Given the description of an element on the screen output the (x, y) to click on. 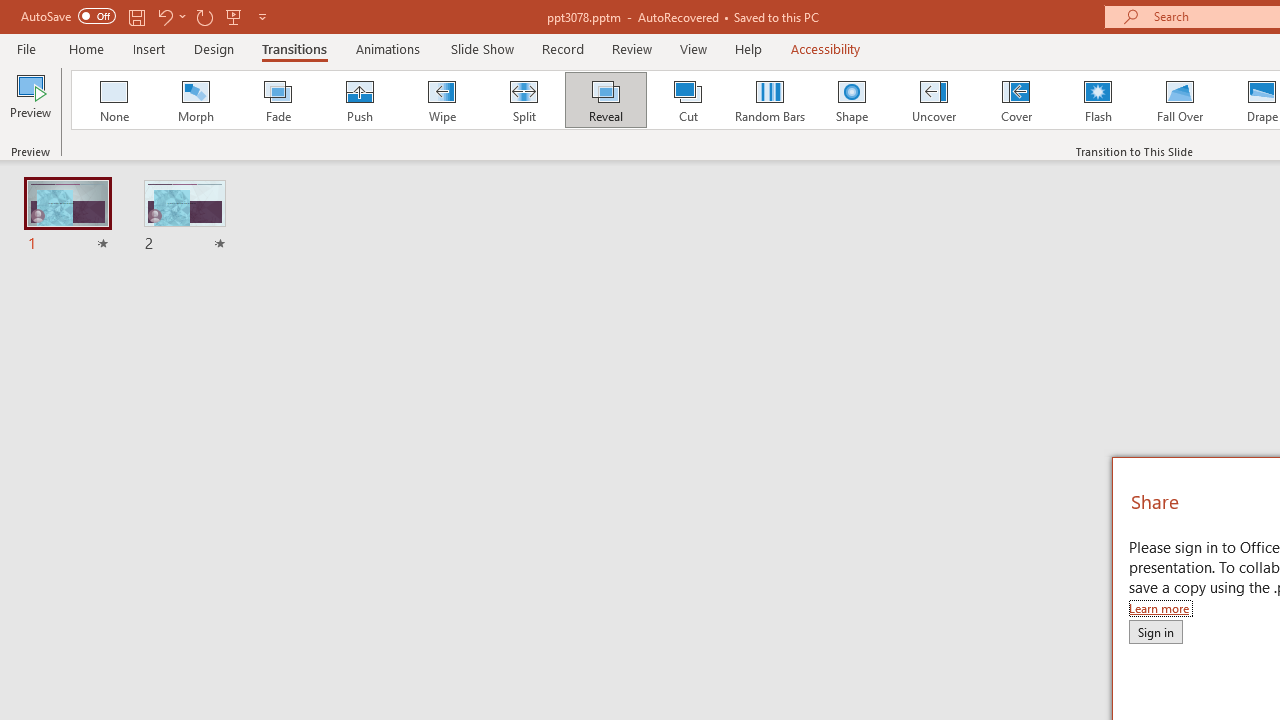
Morph (195, 100)
Learn more (1160, 608)
Push (359, 100)
Flash (1098, 100)
